Given the description of an element on the screen output the (x, y) to click on. 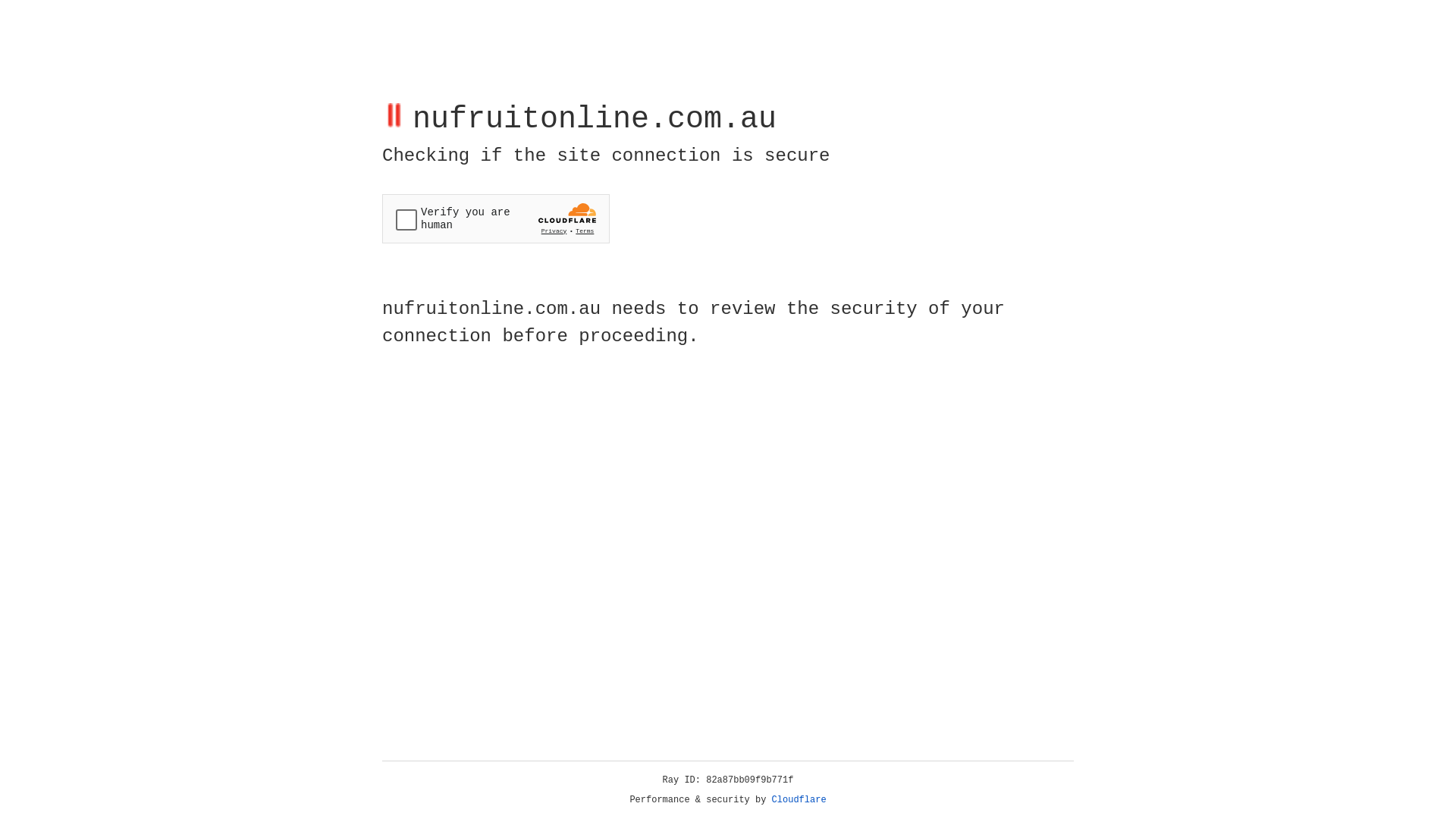
Cloudflare Element type: text (798, 799)
Widget containing a Cloudflare security challenge Element type: hover (495, 218)
